Given the description of an element on the screen output the (x, y) to click on. 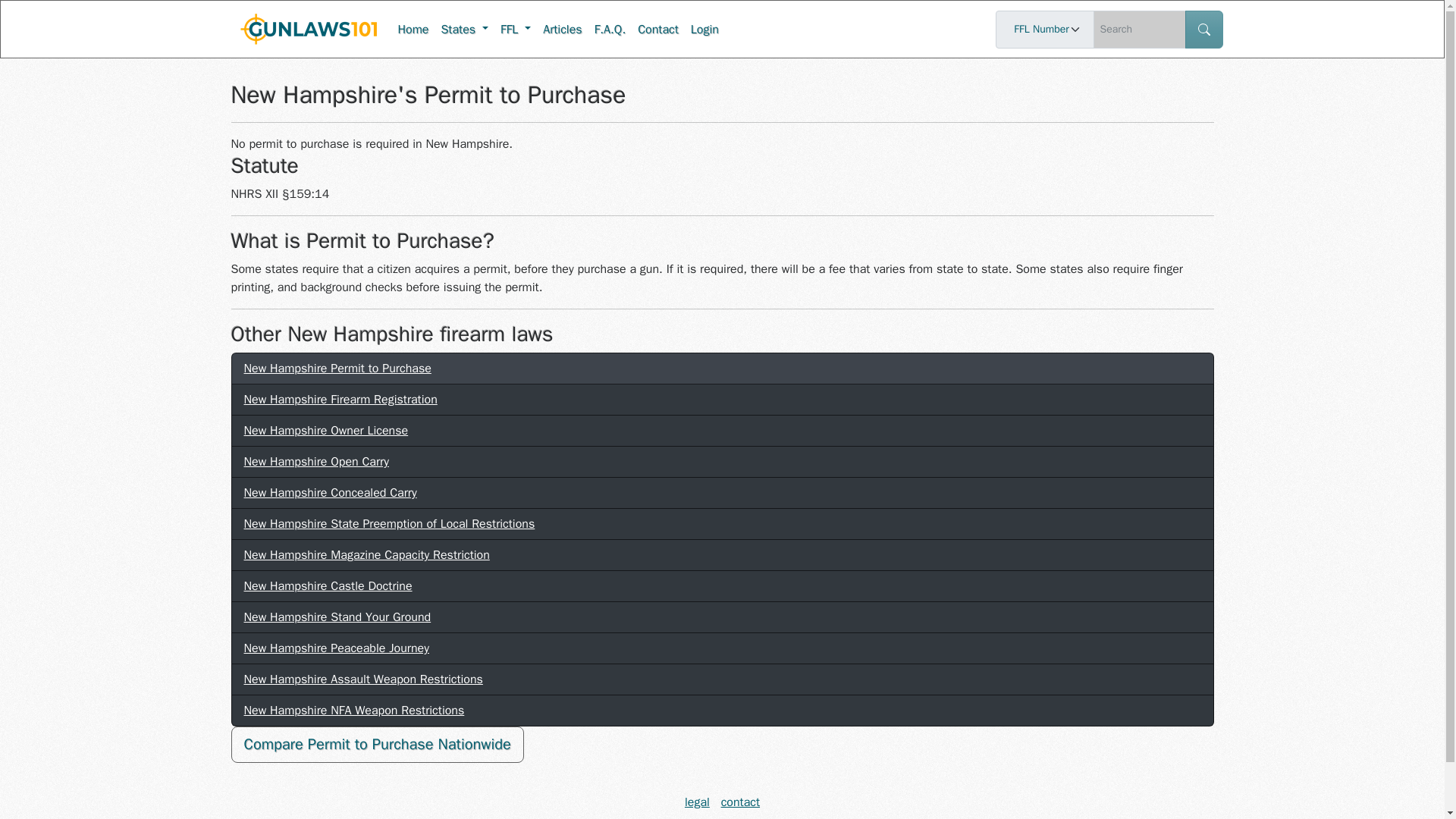
Home (412, 28)
States (464, 28)
